Given the description of an element on the screen output the (x, y) to click on. 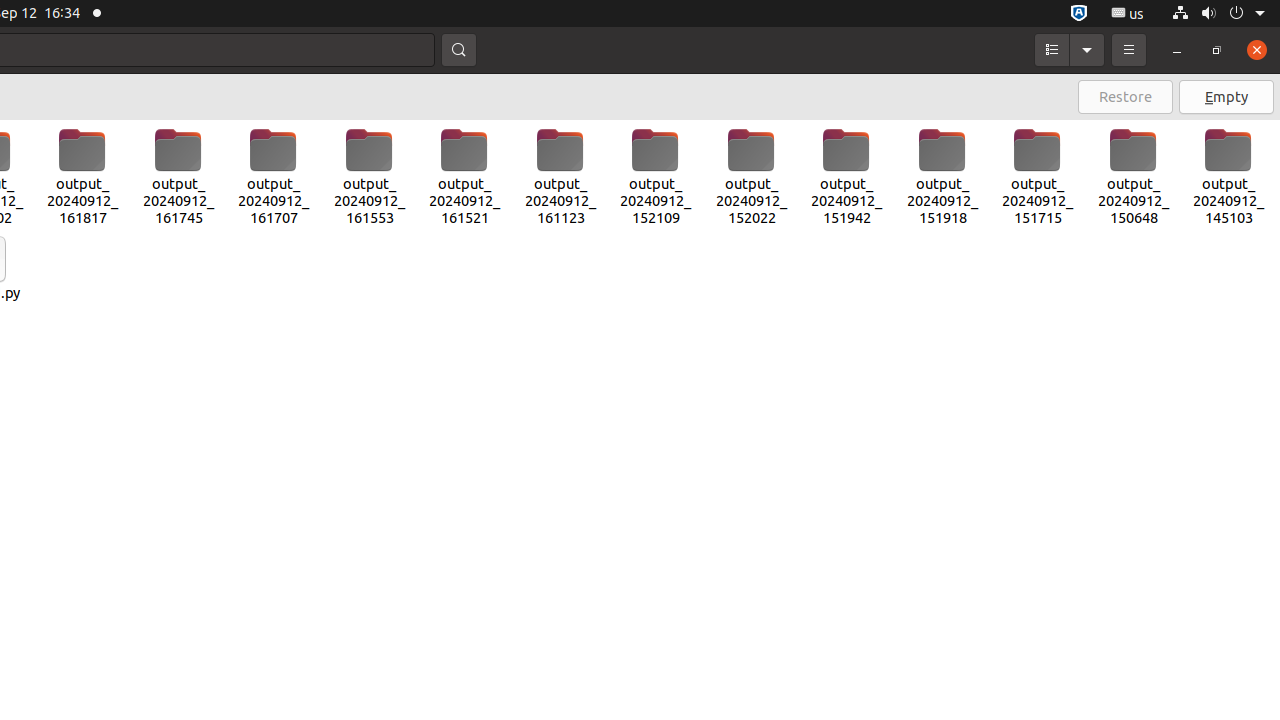
Minimize Element type: push-button (1177, 50)
output_20240912_161707 Element type: canvas (274, 177)
Close Element type: push-button (1257, 50)
